Given the description of an element on the screen output the (x, y) to click on. 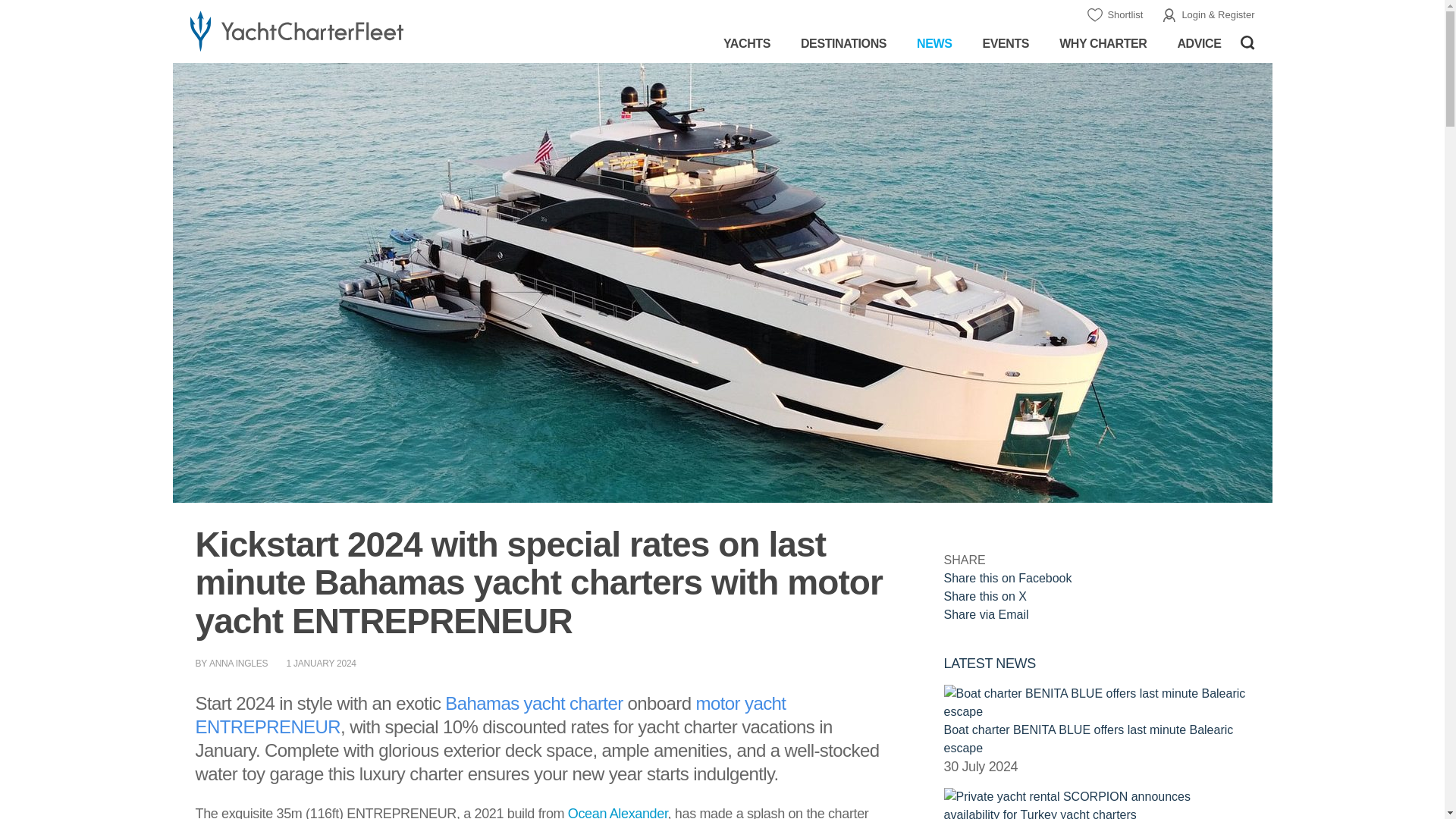
Back to Homepage (343, 30)
